Given the description of an element on the screen output the (x, y) to click on. 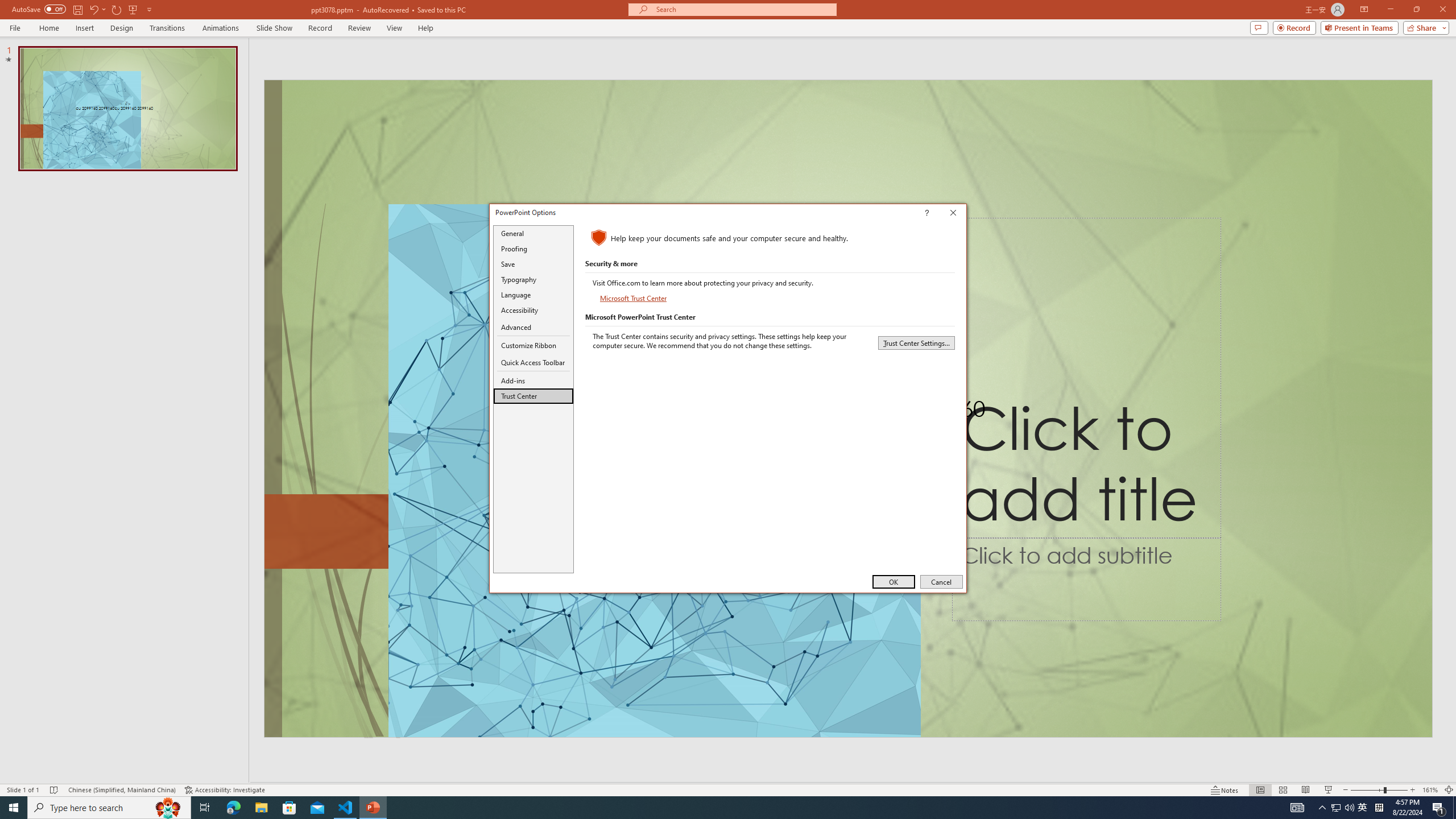
Zoom 161% (1430, 790)
Advanced (533, 327)
Action Center, 1 new notification (1439, 807)
